Given the description of an element on the screen output the (x, y) to click on. 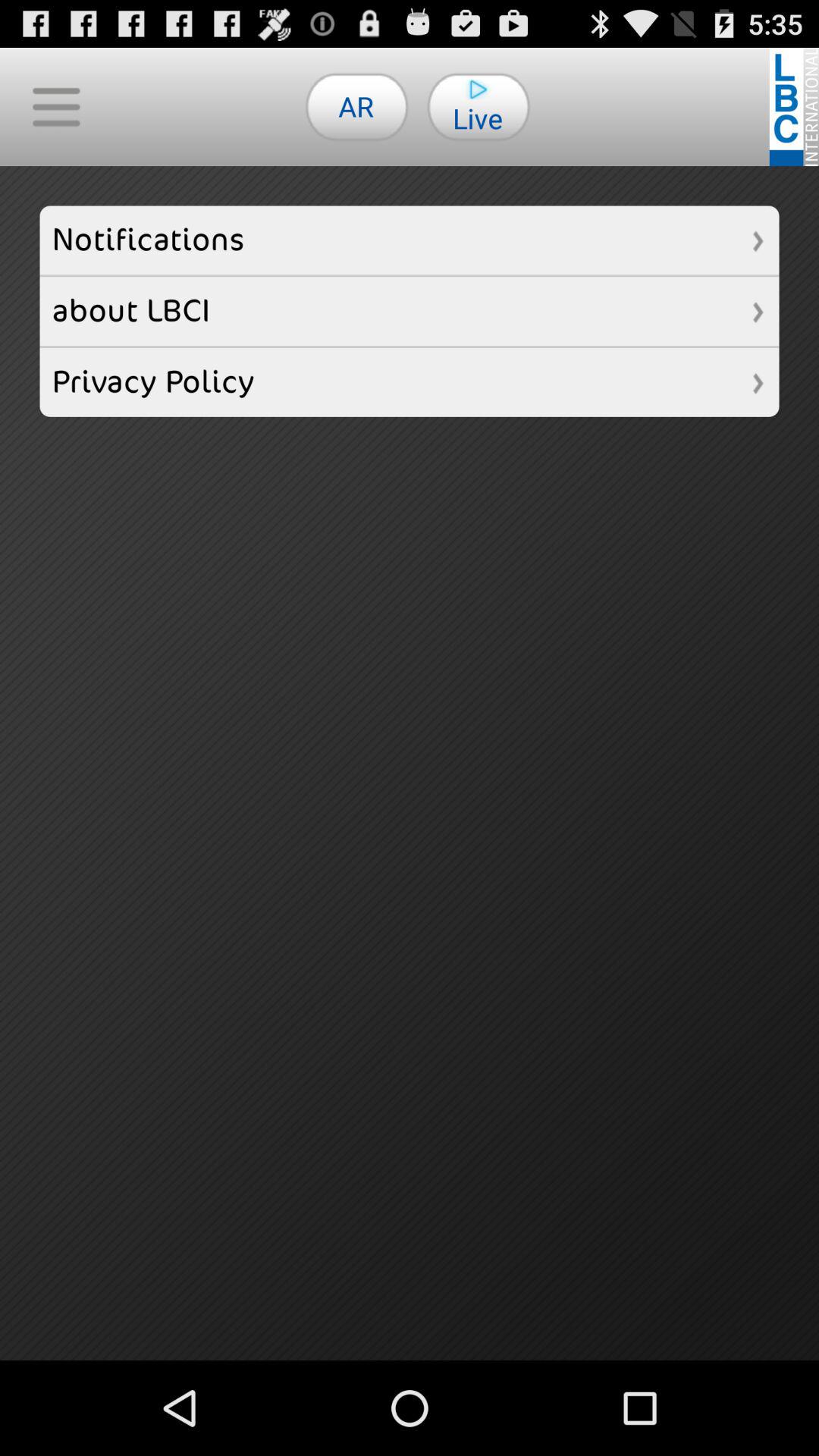
open item next to the live app (356, 106)
